Given the description of an element on the screen output the (x, y) to click on. 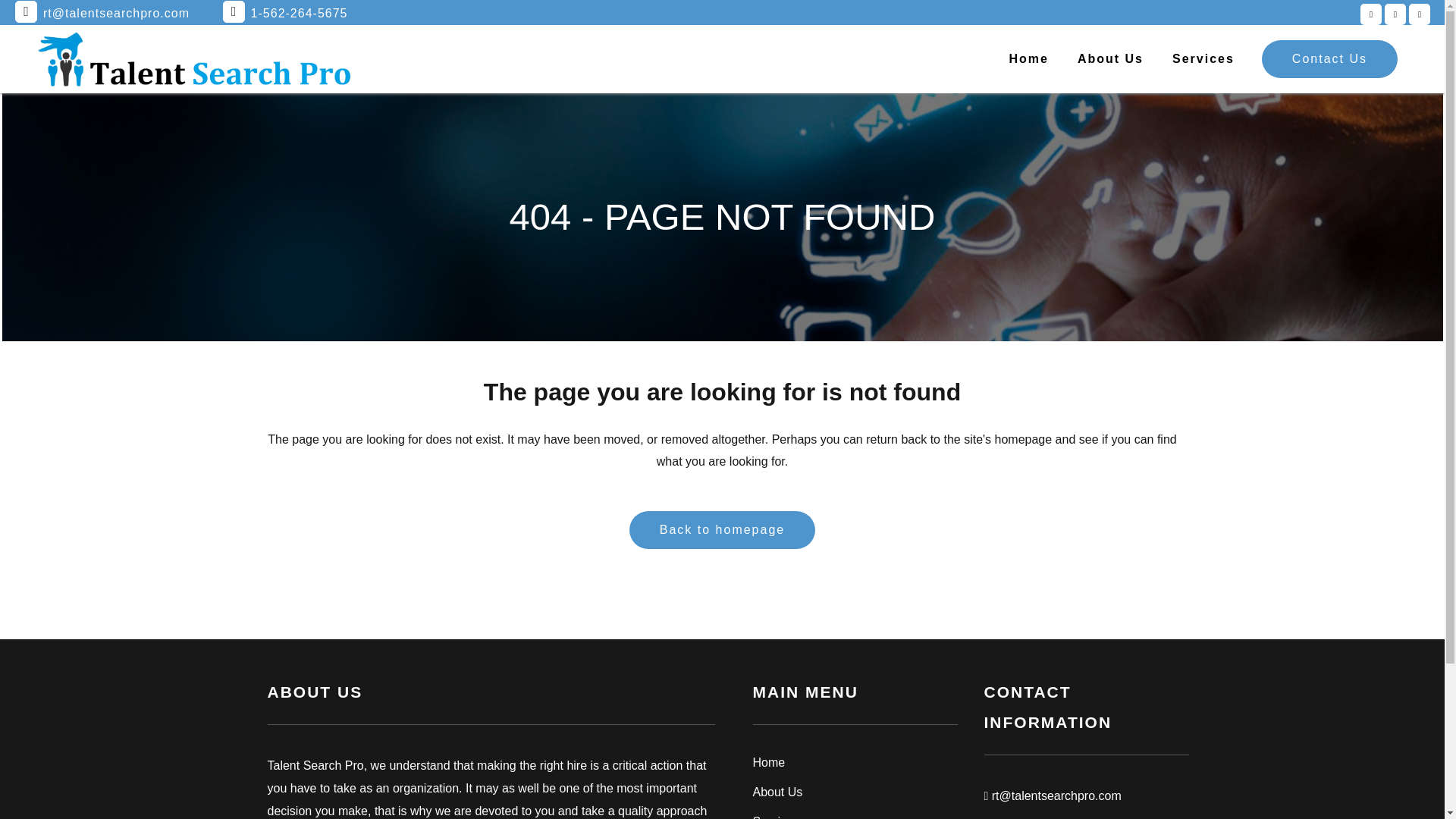
Back to homepage (721, 529)
Contact Us (1329, 58)
Home (1028, 59)
About Us (854, 791)
Services (1203, 59)
Services (854, 816)
Home (854, 762)
About Us (1109, 59)
